Given the description of an element on the screen output the (x, y) to click on. 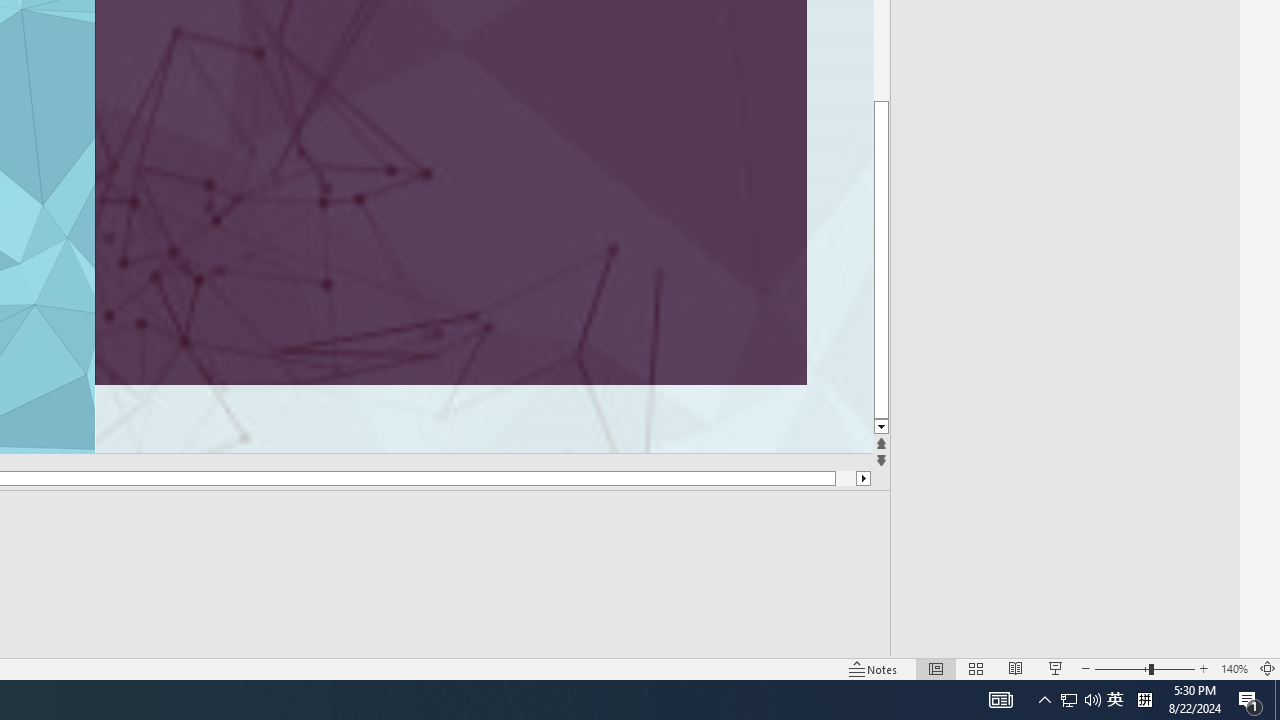
Zoom 140% (1234, 668)
